Given the description of an element on the screen output the (x, y) to click on. 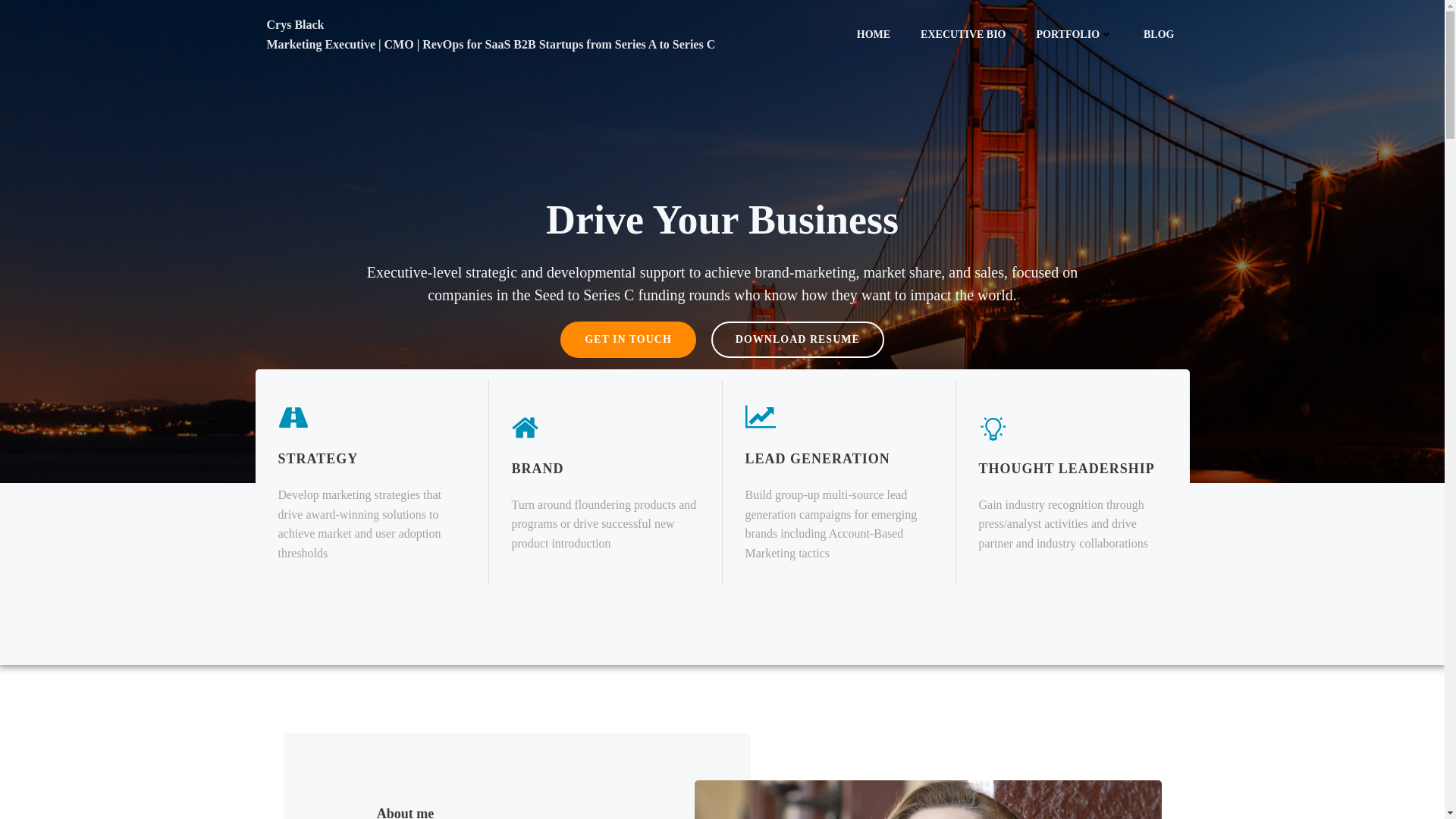
BLOG (1157, 34)
PORTFOLIO (1074, 34)
HOME (873, 34)
EXECUTIVE BIO (963, 34)
DOWNLOAD RESUME (797, 339)
GET IN TOUCH (627, 339)
